Given the description of an element on the screen output the (x, y) to click on. 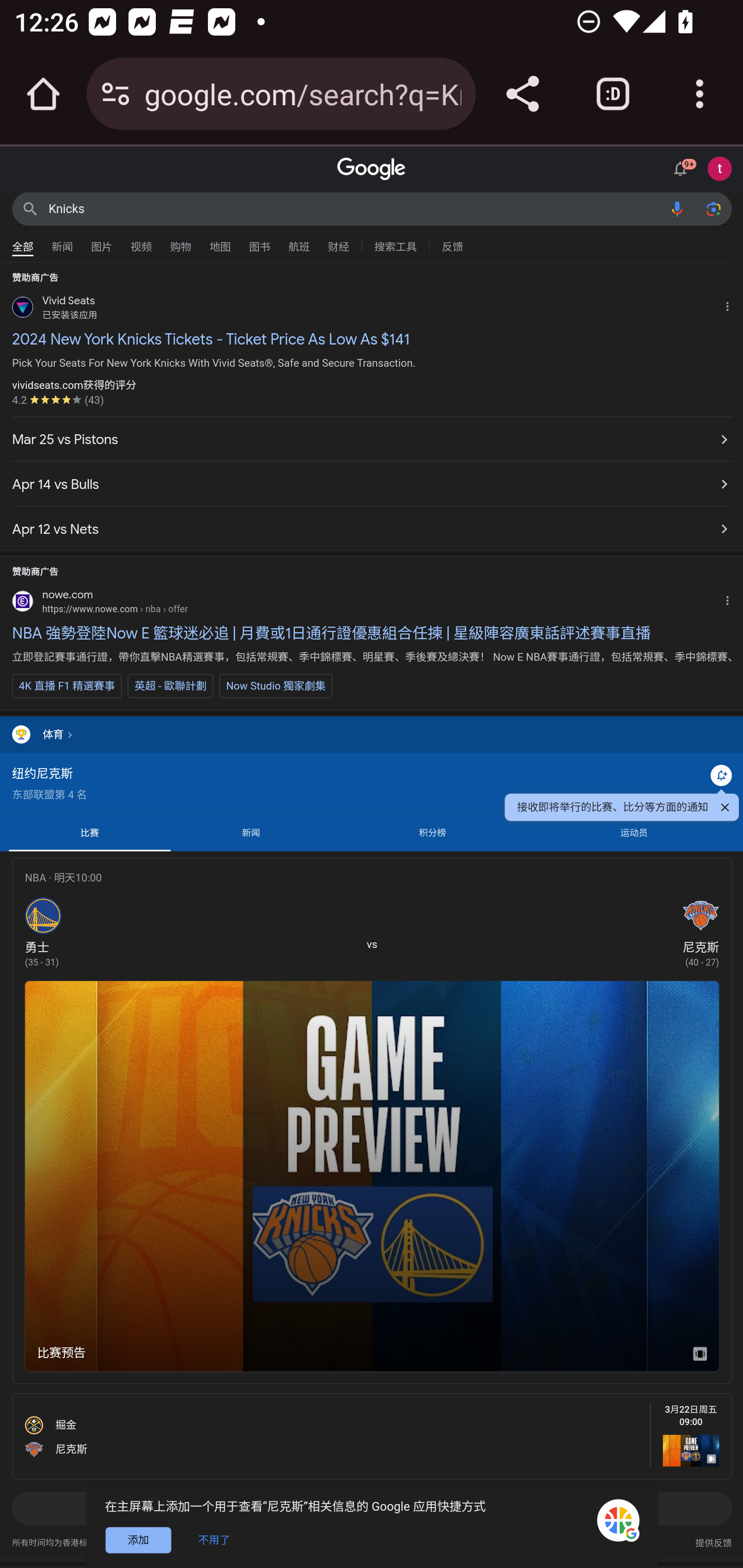
Open the home page (43, 93)
Connection is secure (115, 93)
Share (522, 93)
Switch or close tabs (612, 93)
Customize and control Google Chrome (699, 93)
Google (371, 169)
有 9 条以上的新通知 (683, 166)
Google 账号： test appium (testappium002@gmail.com) (719, 168)
Google 搜索 (29, 208)
使用拍照功能或照片进行搜索 (712, 208)
Knicks (353, 208)
新闻 (62, 241)
图片 (101, 241)
视频 (141, 241)
购物 (180, 241)
地图 (219, 241)
图书 (259, 241)
航班 (299, 241)
财经 (338, 241)
搜索工具 (395, 244)
反馈 (452, 244)
为什么会显示该广告？ (731, 303)
Mar 25 vs Pistons (371, 439)
Apr 14 vs Bulls (371, 483)
Apr 12 vs Nets (371, 524)
为什么会显示该广告？ (731, 597)
4K 直播 F1 精選賽事 (66, 684)
英超 - 歐聯計劃 (170, 684)
Now Studio 獨家劇集 (275, 684)
体育 (371, 733)
接收关于“纽约尼克斯”的通知 (721, 775)
关闭 (724, 809)
比赛 (89, 832)
新闻 (250, 832)
积分榜 (431, 832)
运动员 (633, 832)
展开 (371, 1514)
提供反馈 (713, 1538)
添加 (138, 1539)
不用了 (217, 1538)
